Given the description of an element on the screen output the (x, y) to click on. 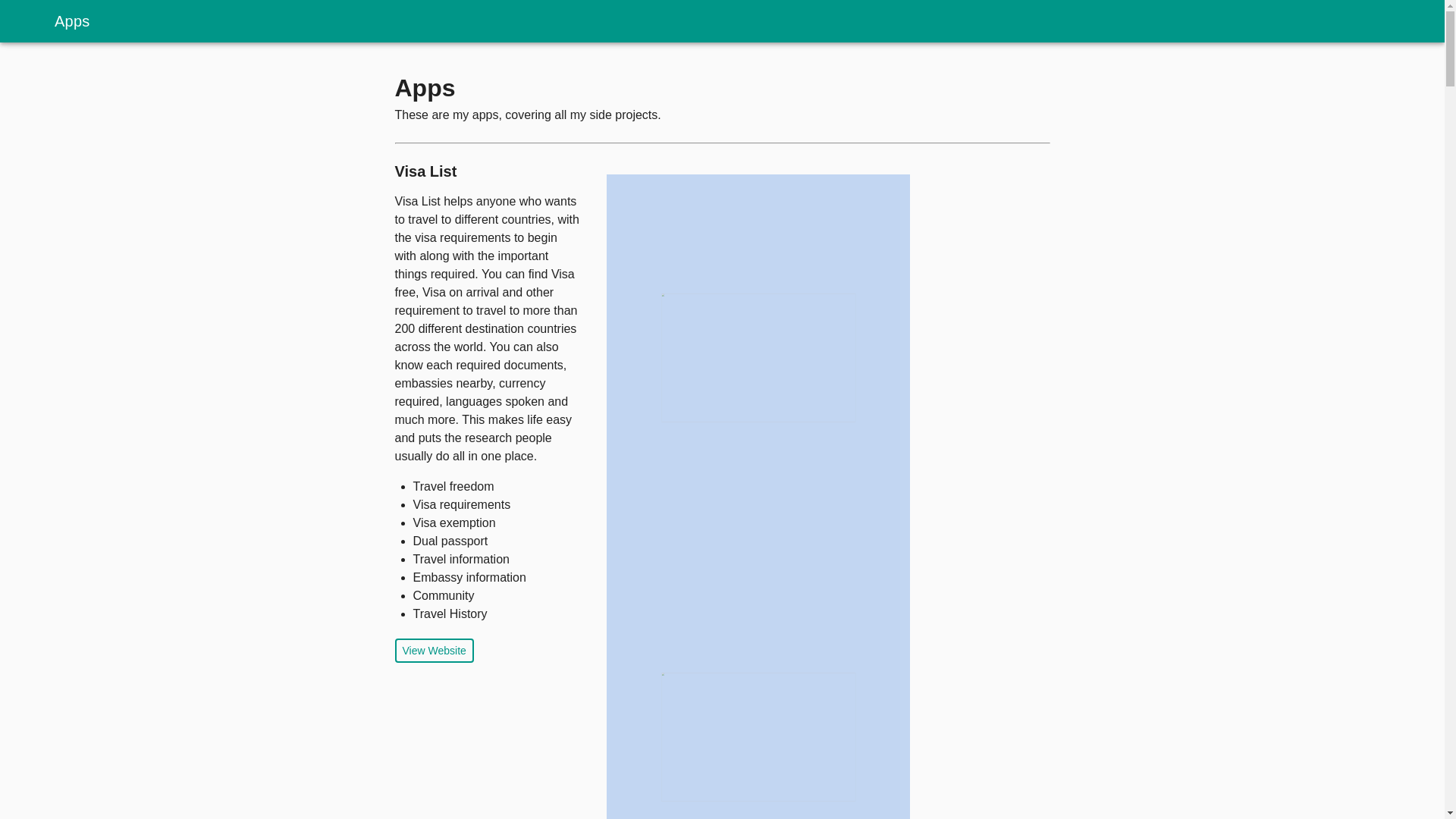
View Website Element type: text (433, 650)
